Given the description of an element on the screen output the (x, y) to click on. 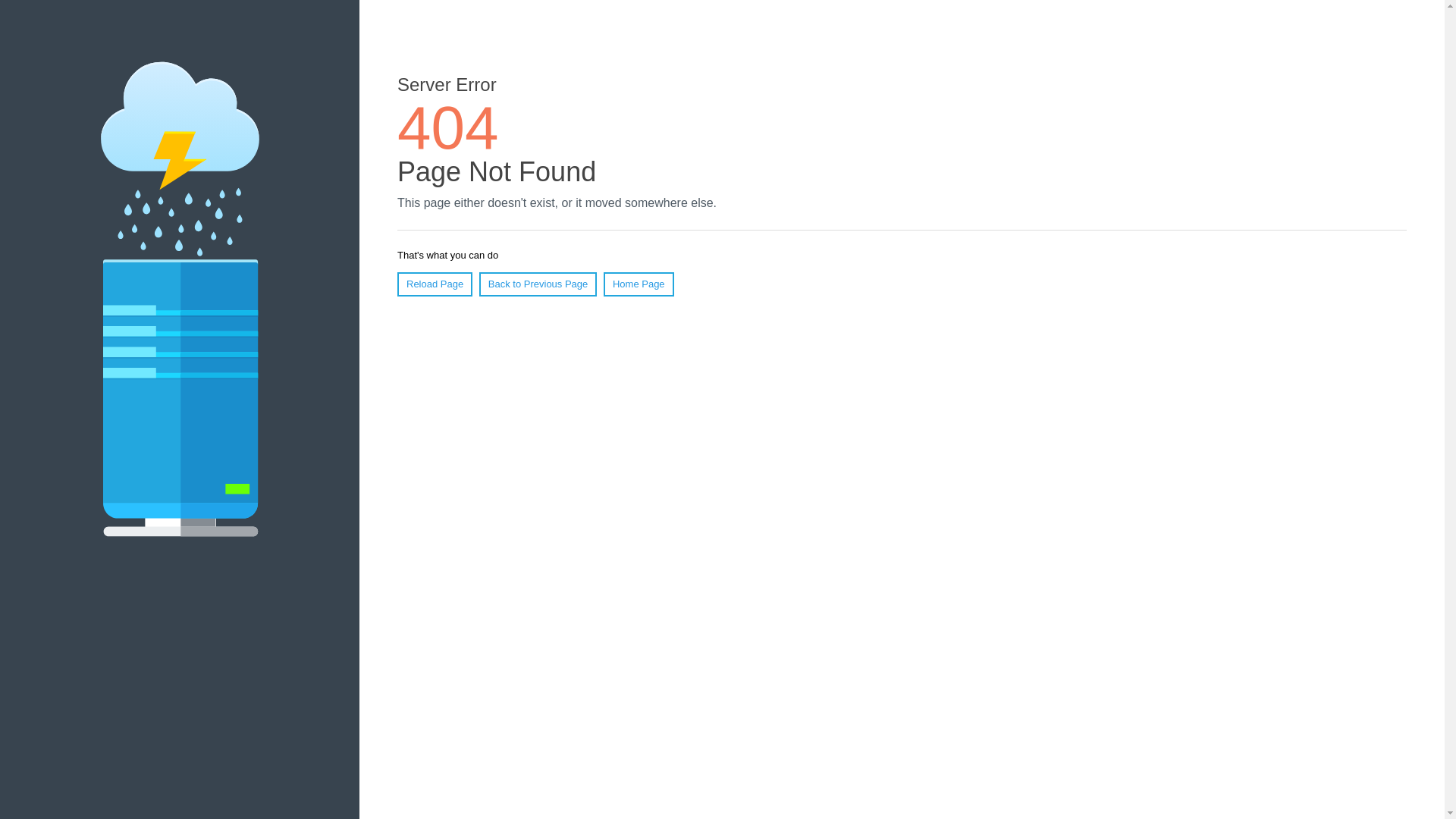
Back to Previous Page Element type: text (538, 284)
Home Page Element type: text (638, 284)
Reload Page Element type: text (434, 284)
